Given the description of an element on the screen output the (x, y) to click on. 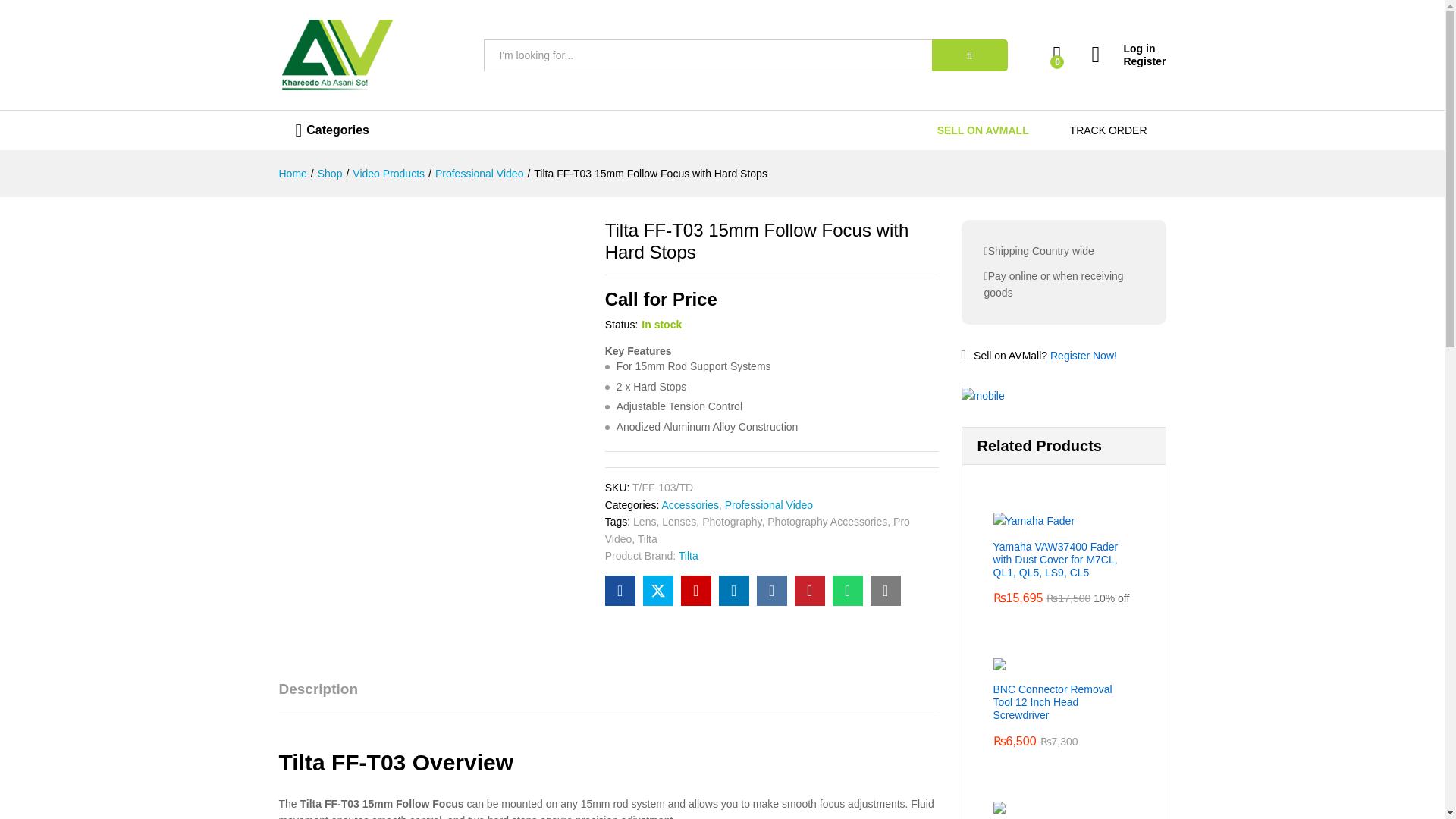
Tilta FF-T03 15mm Follow Focus with Hard Stops (847, 590)
Tilta FF-T03 15mm Follow Focus with Hard Stops (696, 590)
Tilta FF-T03 15mm Follow Focus with Hard Stops (885, 590)
Tilta FF-T03 15mm Follow Focus with Hard Stops (619, 590)
